Given the description of an element on the screen output the (x, y) to click on. 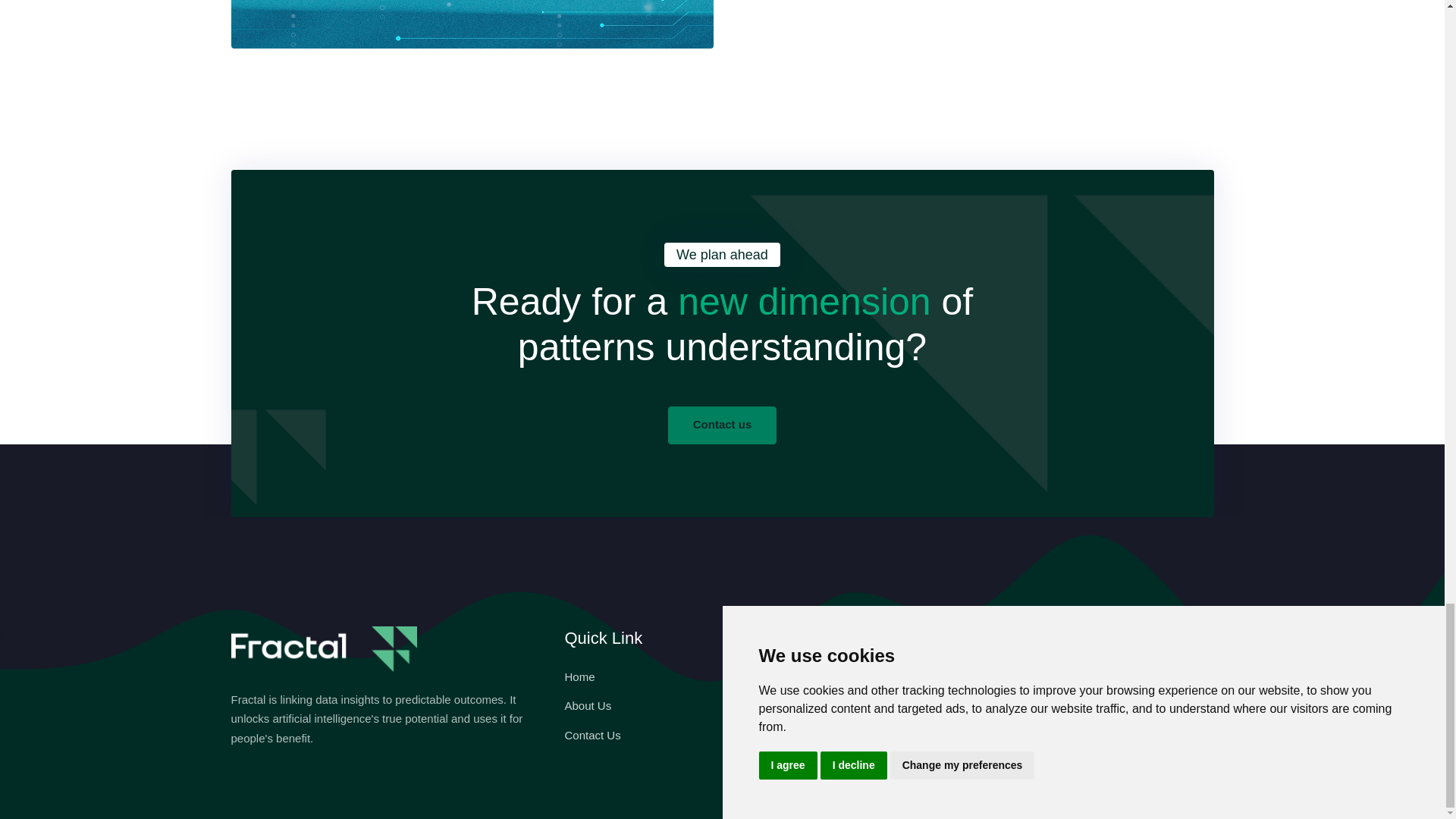
Figura (746, 676)
Contact Us (592, 735)
Contact us (722, 425)
Home (579, 676)
About Us (587, 705)
